Given the description of an element on the screen output the (x, y) to click on. 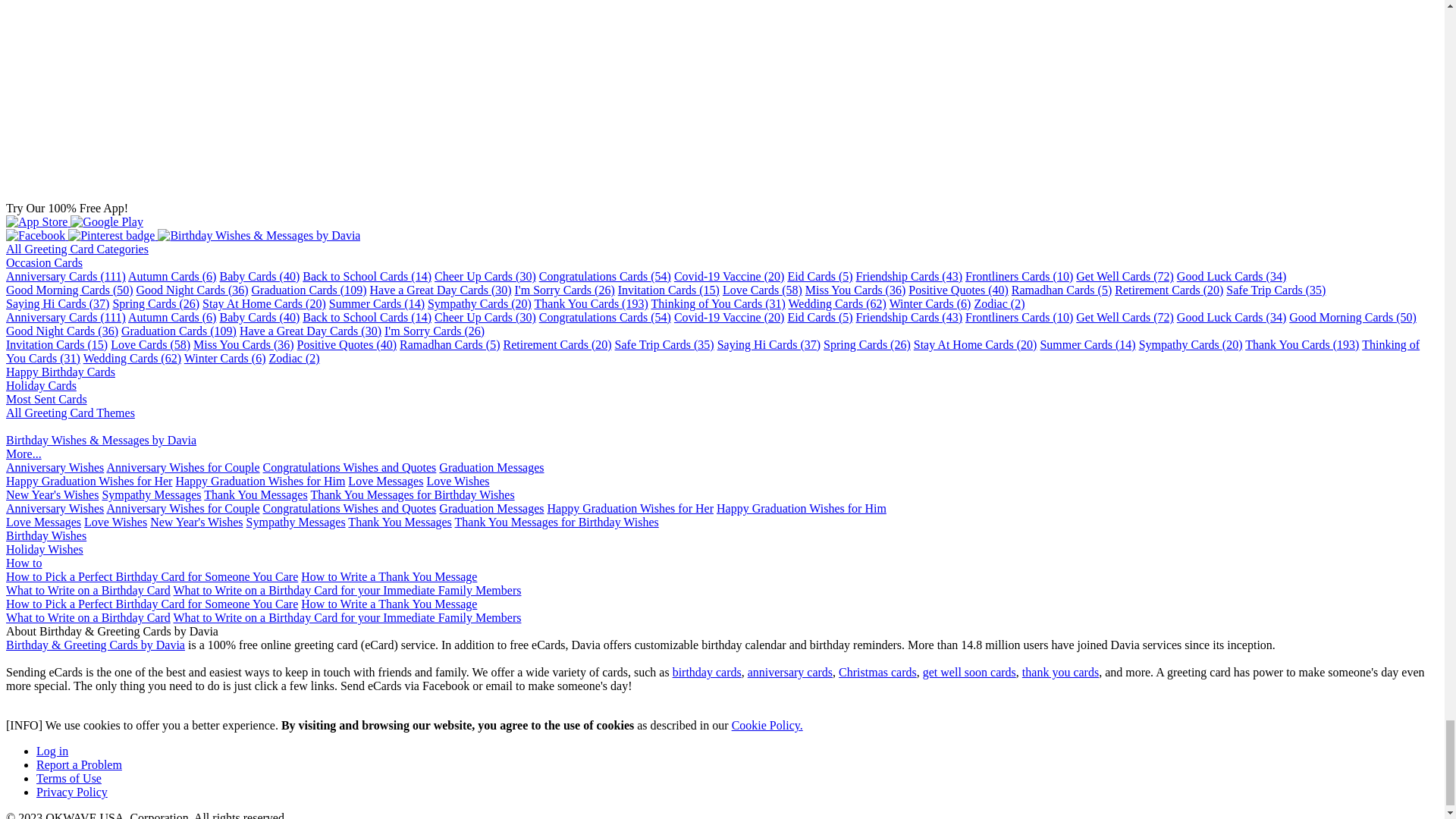
Google Play (105, 221)
App Store (37, 221)
